Given the description of an element on the screen output the (x, y) to click on. 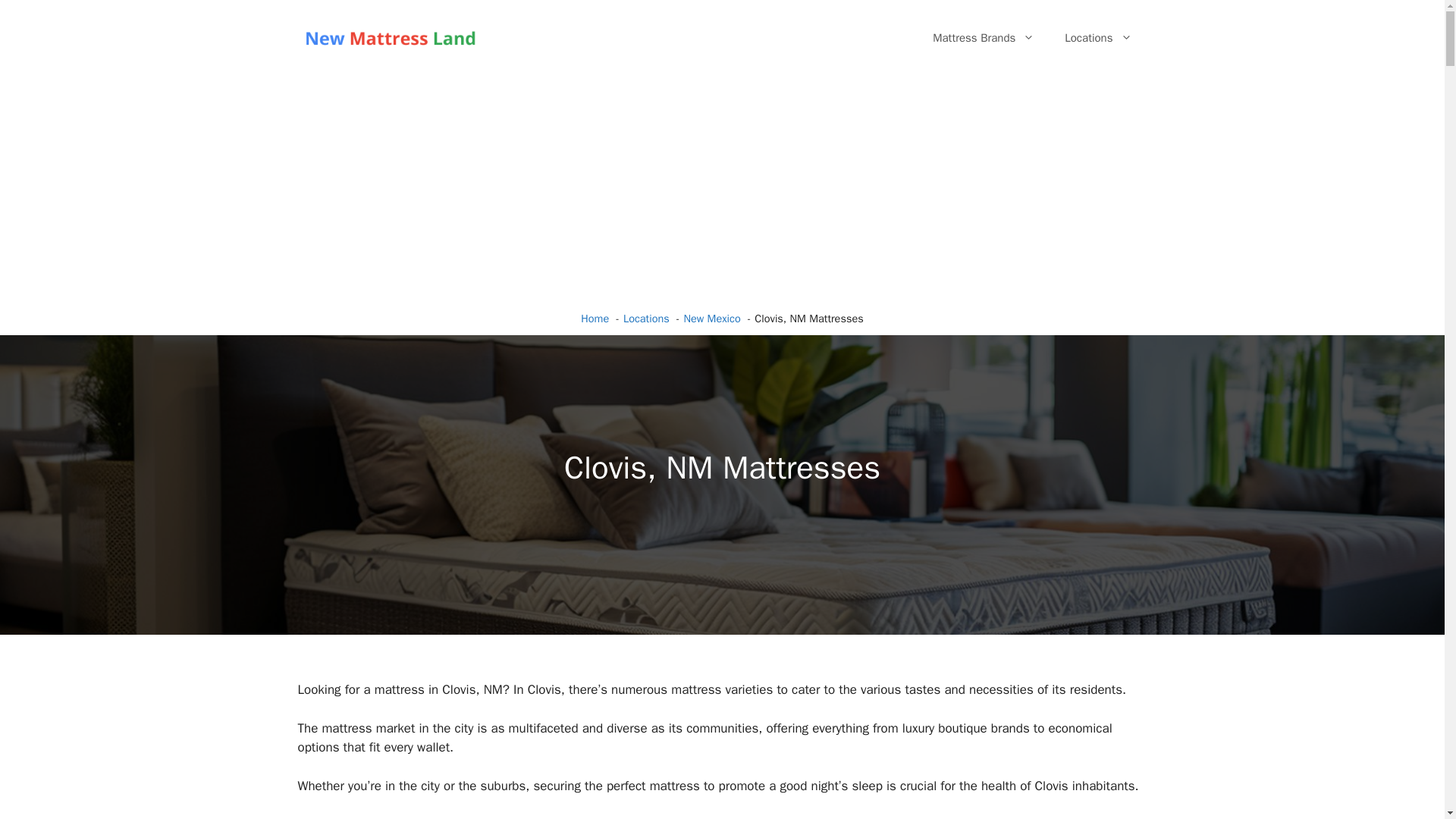
Mattress Brands (983, 37)
Locations (1098, 37)
